Given the description of an element on the screen output the (x, y) to click on. 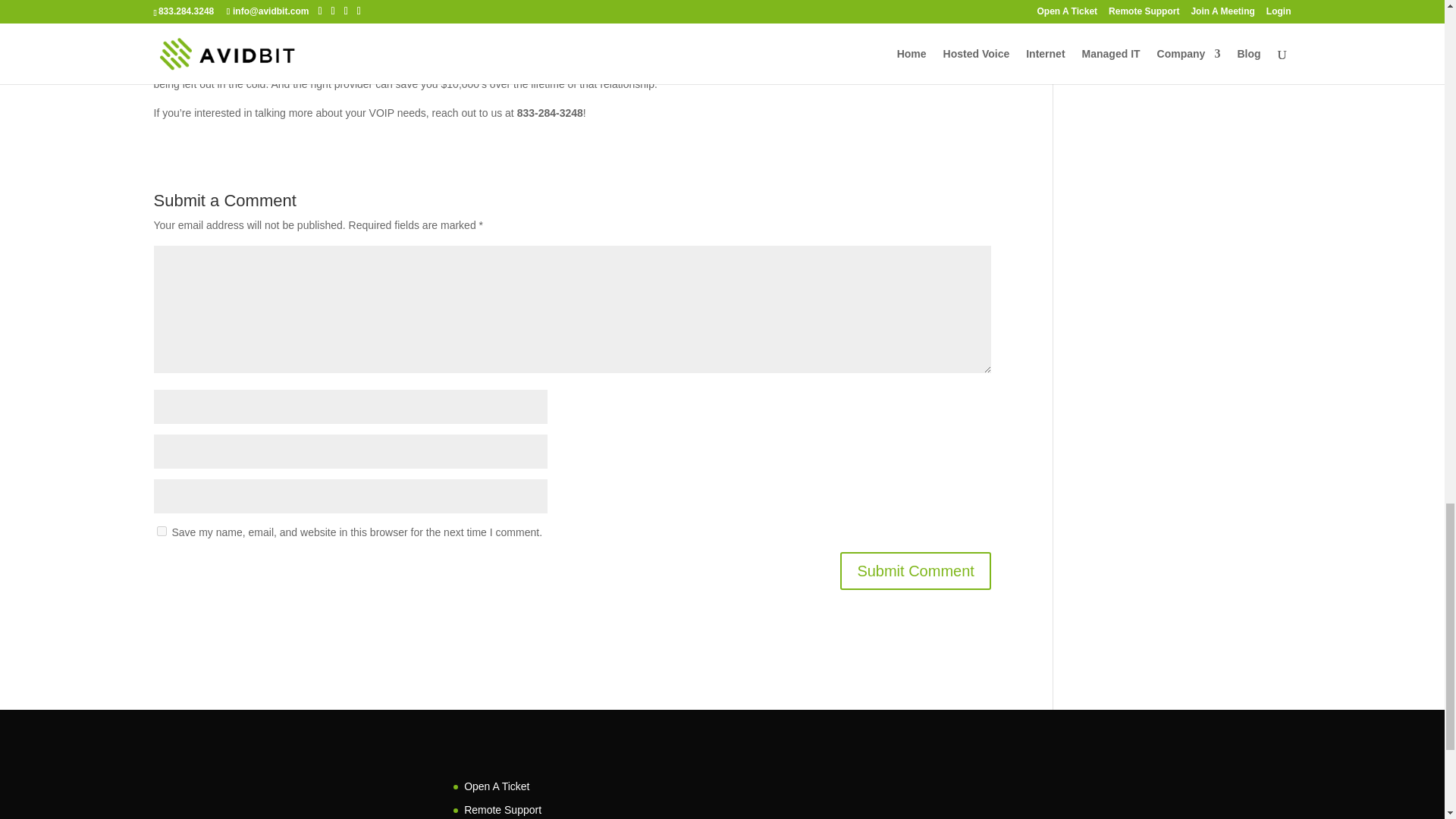
Submit Comment (915, 570)
yes (160, 531)
